Given the description of an element on the screen output the (x, y) to click on. 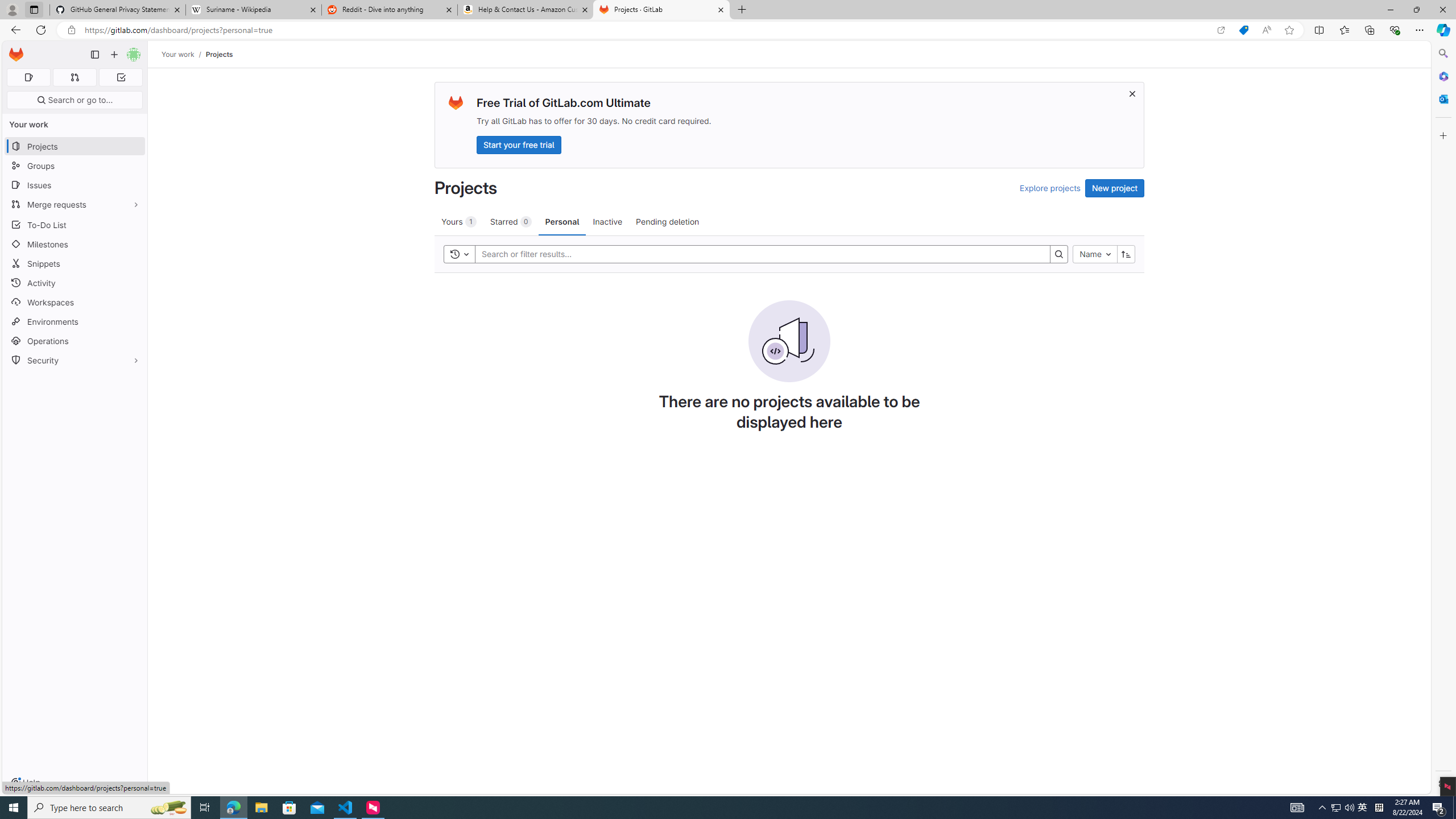
Assigned issues 0 (28, 76)
Create new... (113, 54)
Groups (74, 165)
Activity (74, 282)
Your work/ (183, 53)
Issues (74, 185)
To-Do List (74, 224)
Primary navigation sidebar (94, 54)
